Given the description of an element on the screen output the (x, y) to click on. 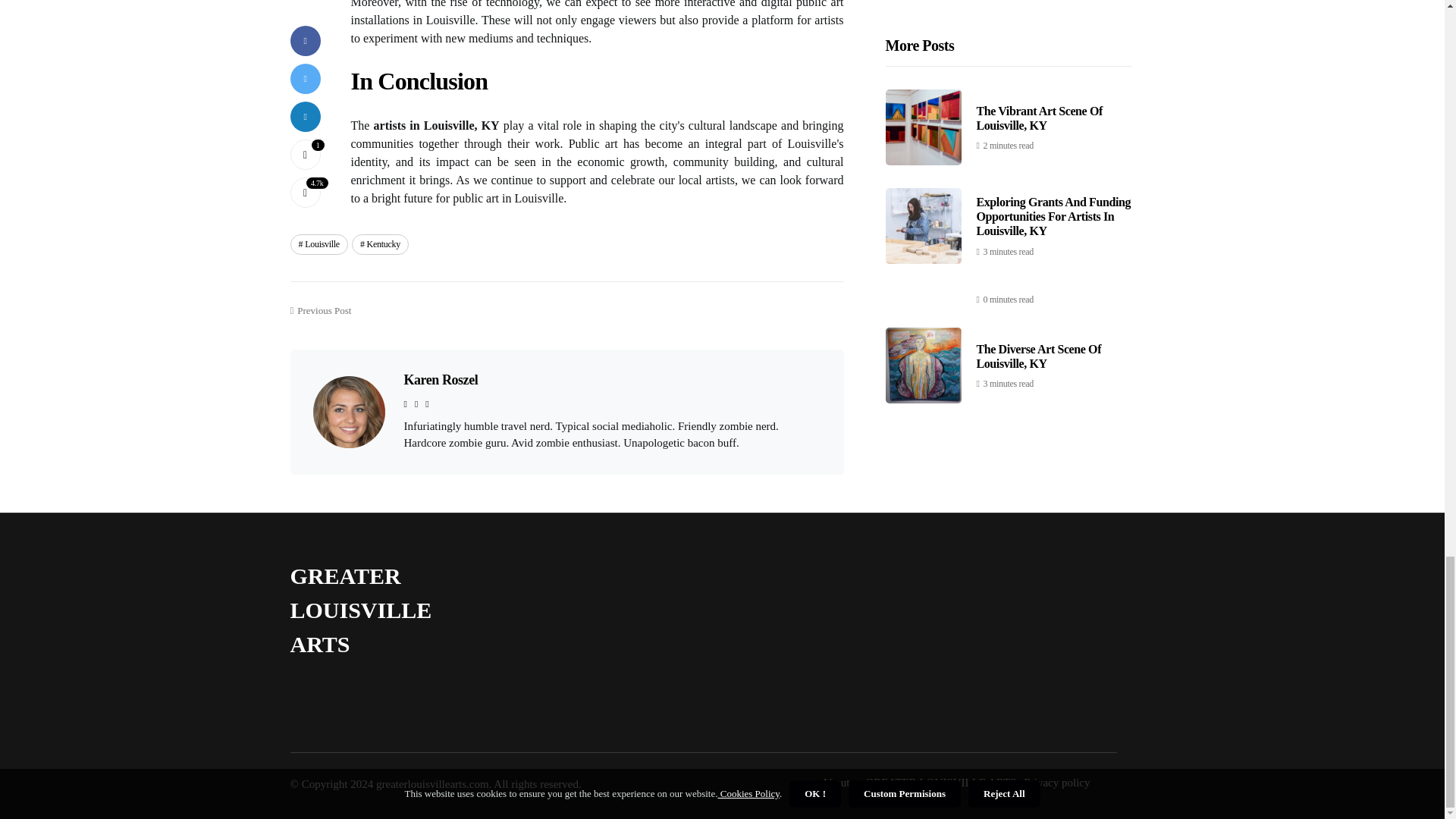
Karen Roszel (440, 379)
Louisville (318, 243)
Kentucky (380, 243)
Previous Post (319, 314)
